Given the description of an element on the screen output the (x, y) to click on. 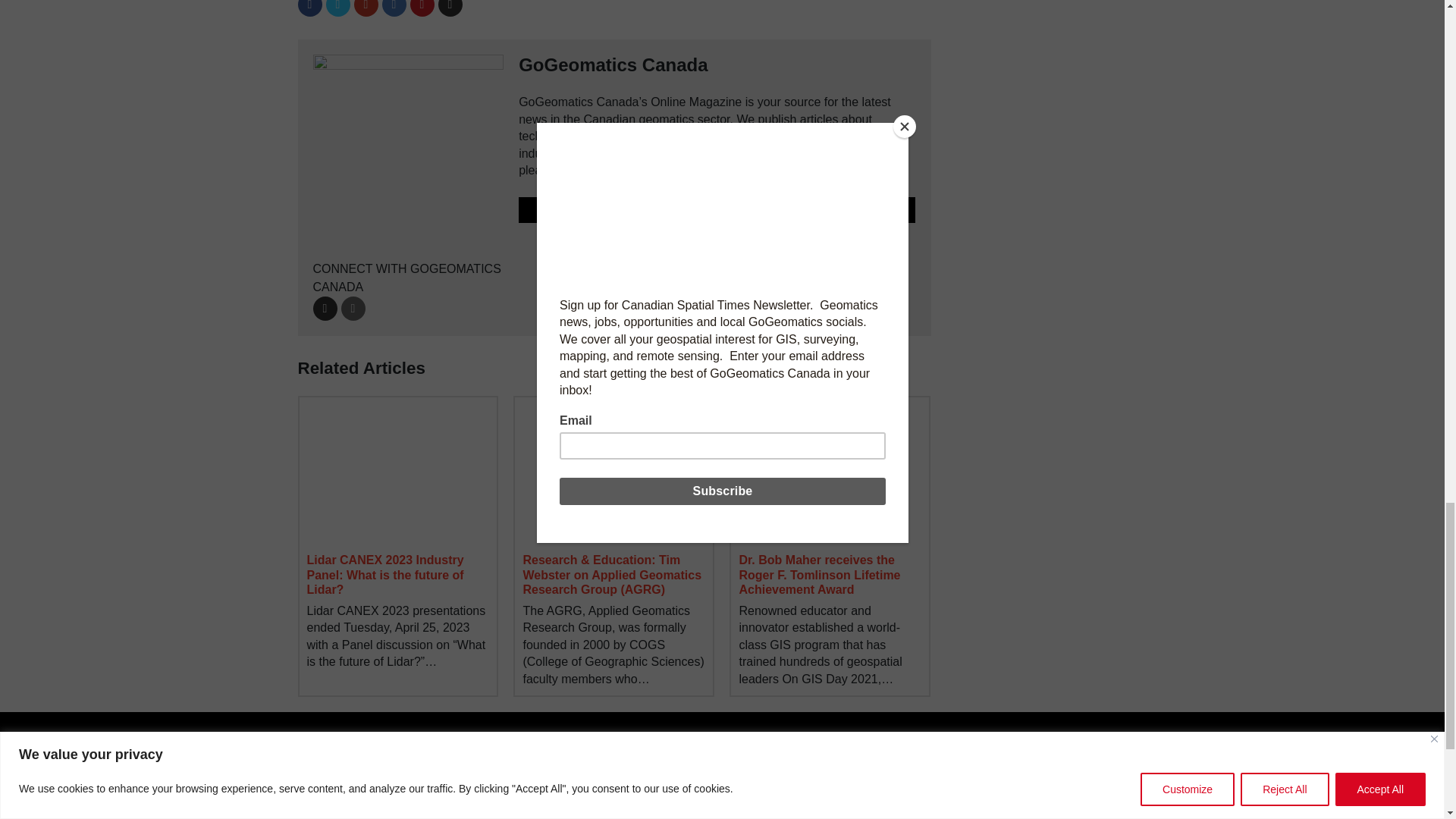
GoGeomatics (1040, 766)
